Given the description of an element on the screen output the (x, y) to click on. 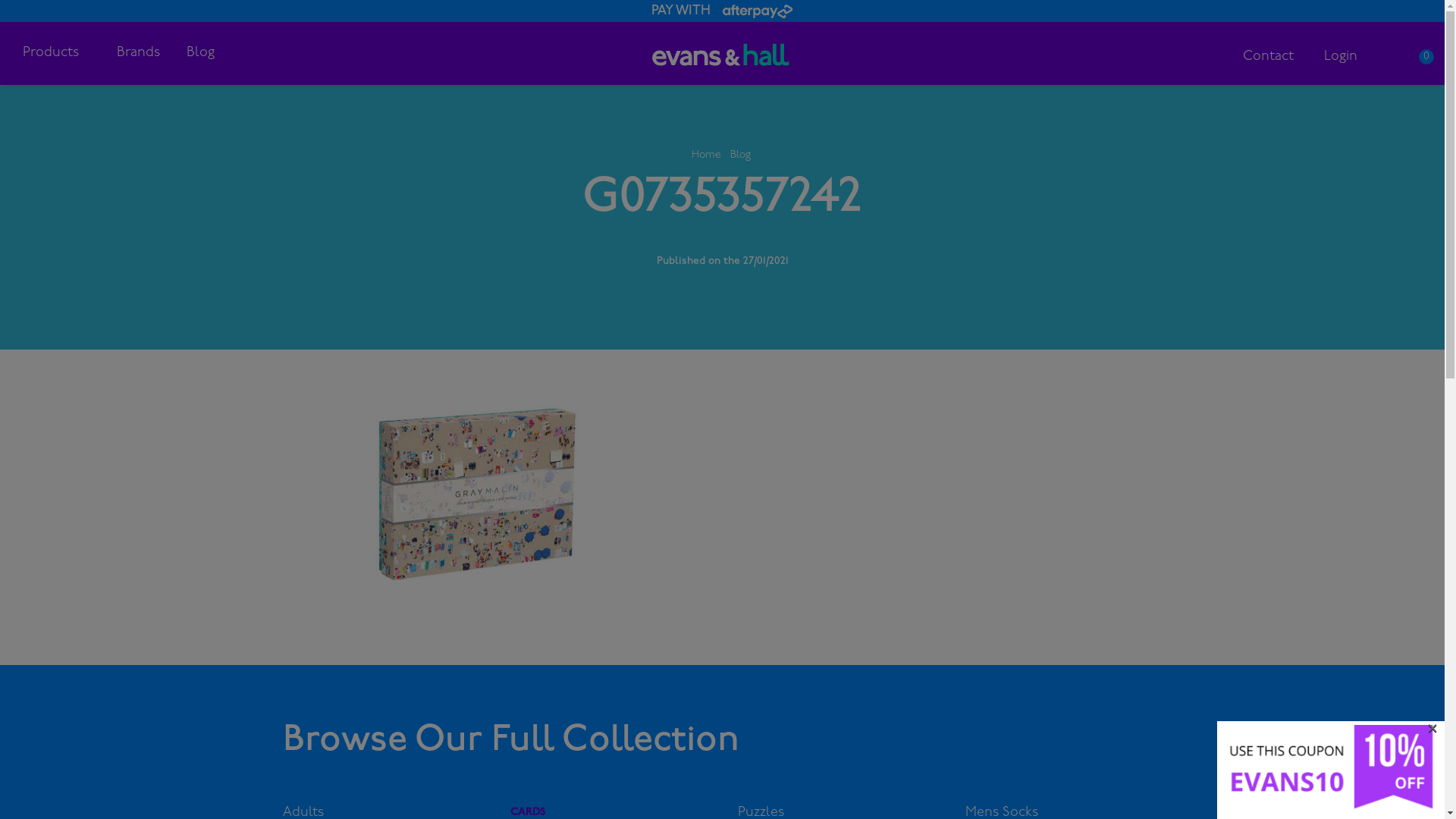
Blog Element type: text (739, 154)
Home Element type: text (706, 154)
Products Element type: text (54, 52)
Contact Element type: text (1267, 56)
Skip to primary navigation Element type: text (0, 0)
Login Element type: text (1340, 56)
Brands Element type: text (138, 52)
Blog Element type: text (200, 52)
